Given the description of an element on the screen output the (x, y) to click on. 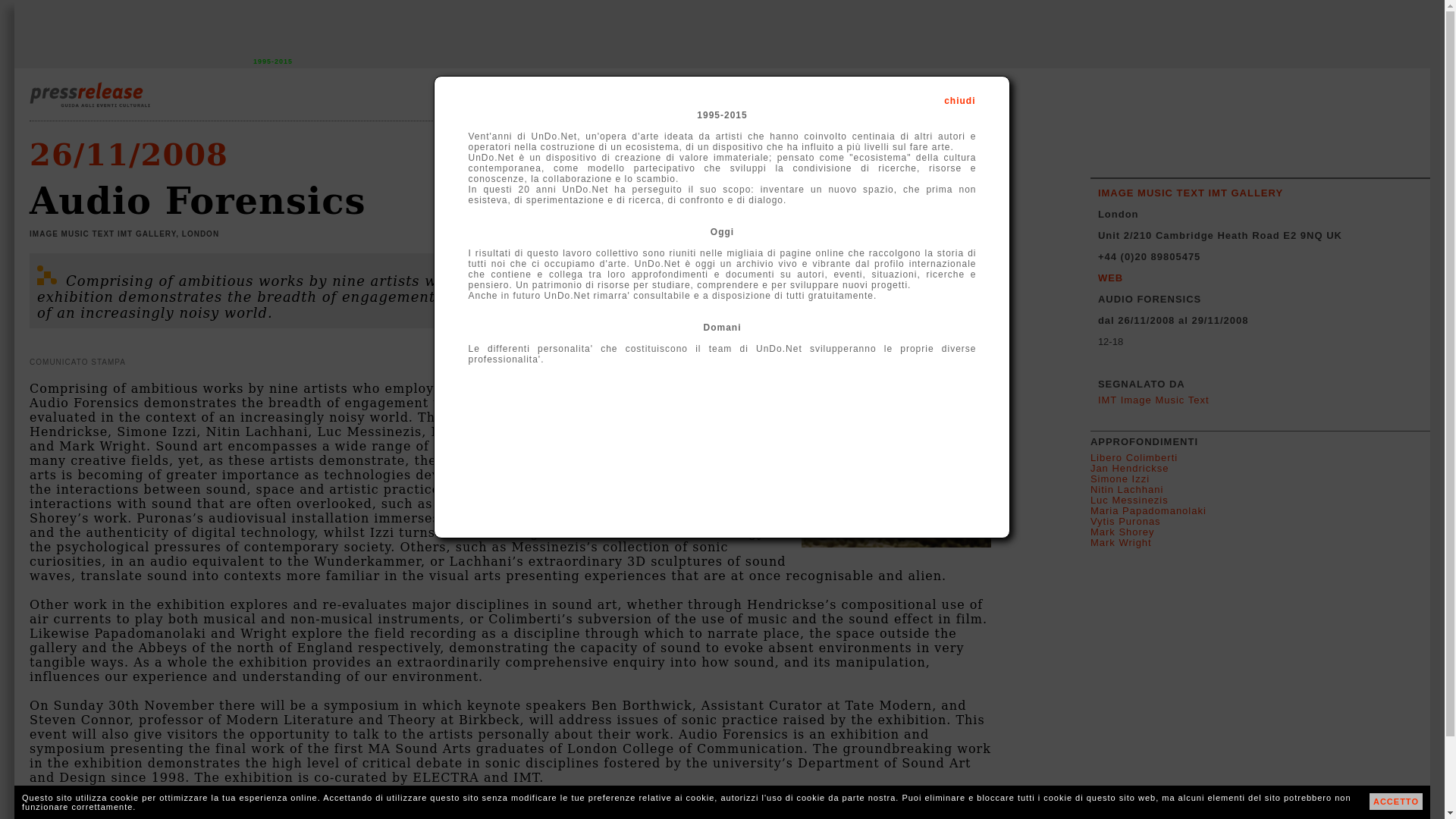
Jan Hendrickse (1129, 468)
Libero Colimberti (1133, 457)
Mark Wright (1120, 542)
Mark Shorey (1122, 531)
IMT Image Music Text (1153, 399)
IMAGE MUSIC TEXT IMT GALLERY (1189, 193)
Luc Messinezis (1129, 500)
Vytis Puronas (1125, 521)
WEB (1109, 277)
Maria Papadomanolaki (1148, 510)
